Given the description of an element on the screen output the (x, y) to click on. 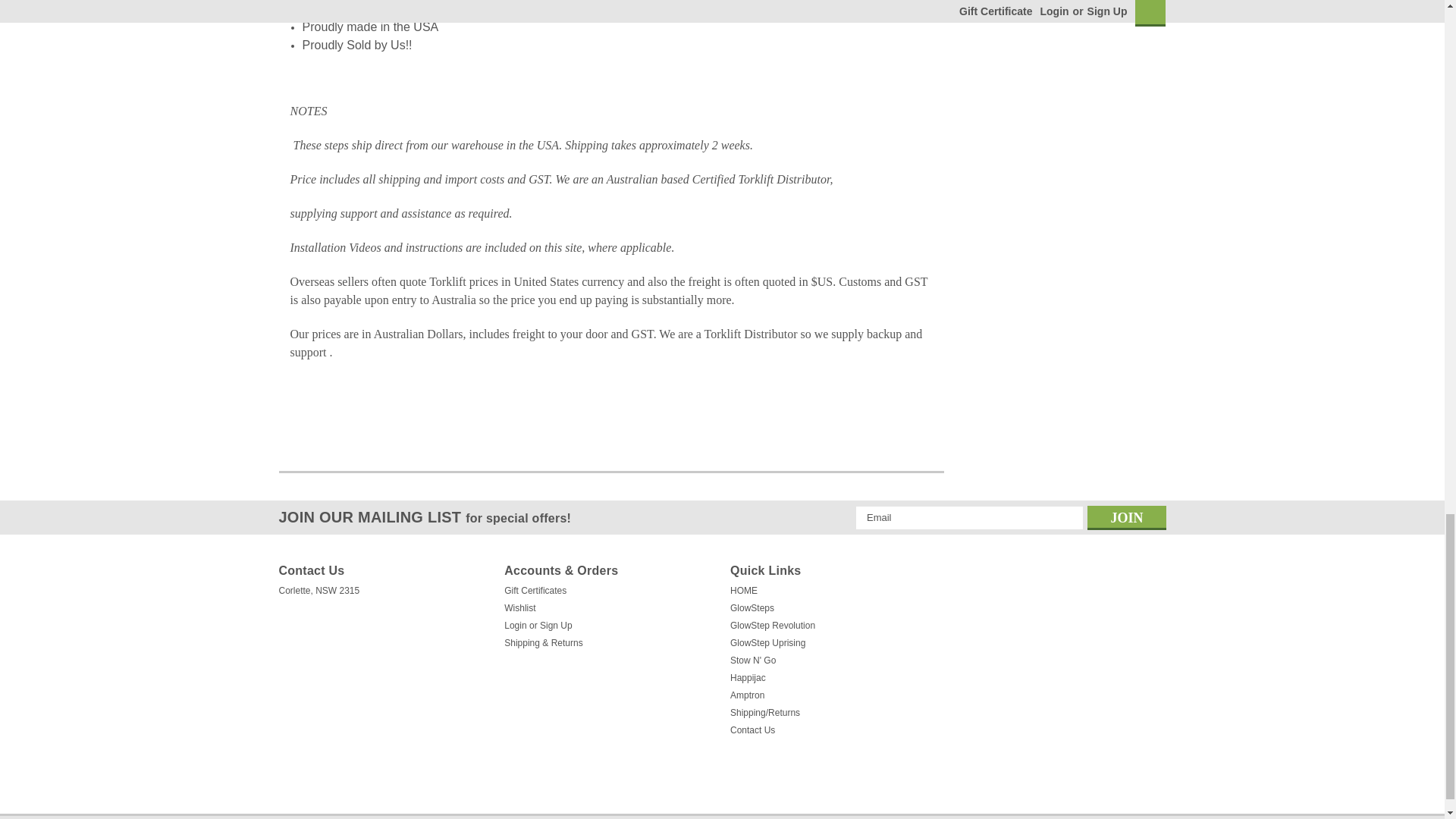
Join (1126, 517)
